Given the description of an element on the screen output the (x, y) to click on. 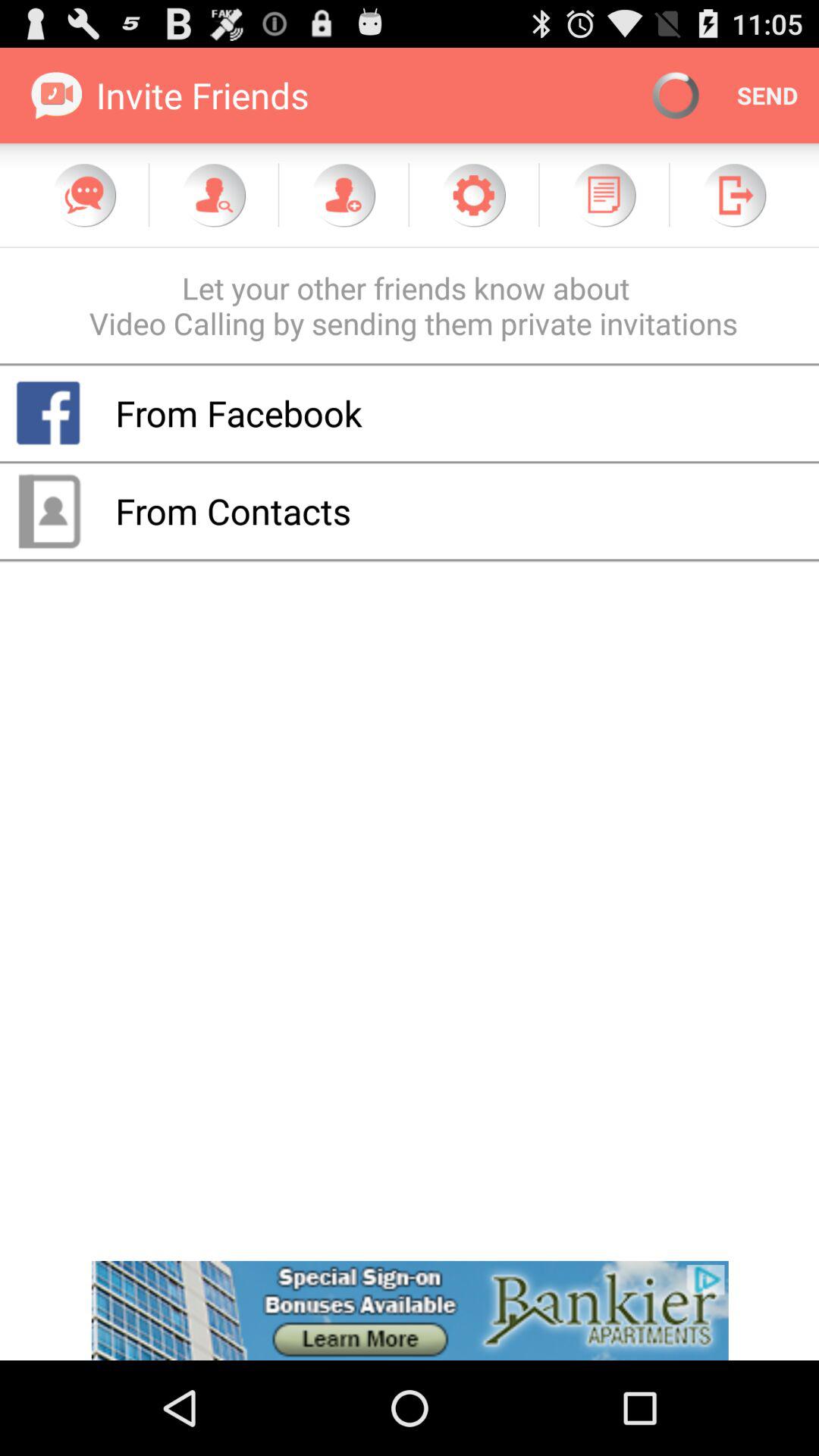
advertisement (409, 1310)
